Given the description of an element on the screen output the (x, y) to click on. 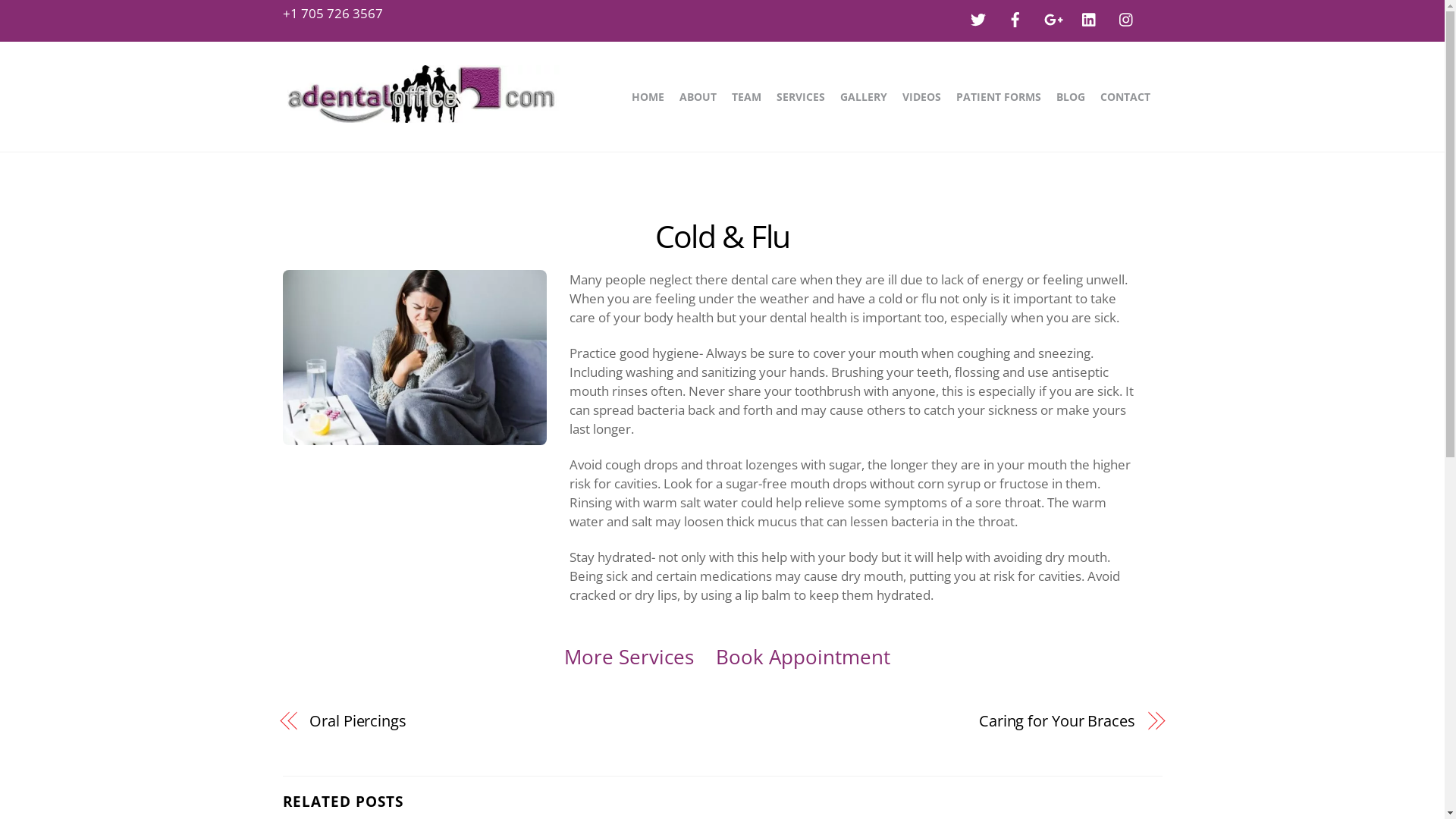
CONTACT Element type: text (1124, 96)
Book Appointment Element type: text (802, 656)
Cold & Flu Element type: text (722, 235)
ado logo Element type: hover (420, 93)
TEAM Element type: text (745, 96)
cold-and-flu-adentaloffice Element type: hover (414, 357)
SERVICES Element type: text (800, 96)
A Dental Office Element type: hover (420, 113)
GALLERY Element type: text (863, 96)
BLOG Element type: text (1069, 96)
VIDEOS Element type: text (921, 96)
More Services Element type: text (628, 656)
ABOUT Element type: text (697, 96)
Caring for Your Braces Element type: text (941, 720)
Oral Piercings Element type: text (502, 720)
HOME Element type: text (646, 96)
PATIENT FORMS Element type: text (997, 96)
